Given the description of an element on the screen output the (x, y) to click on. 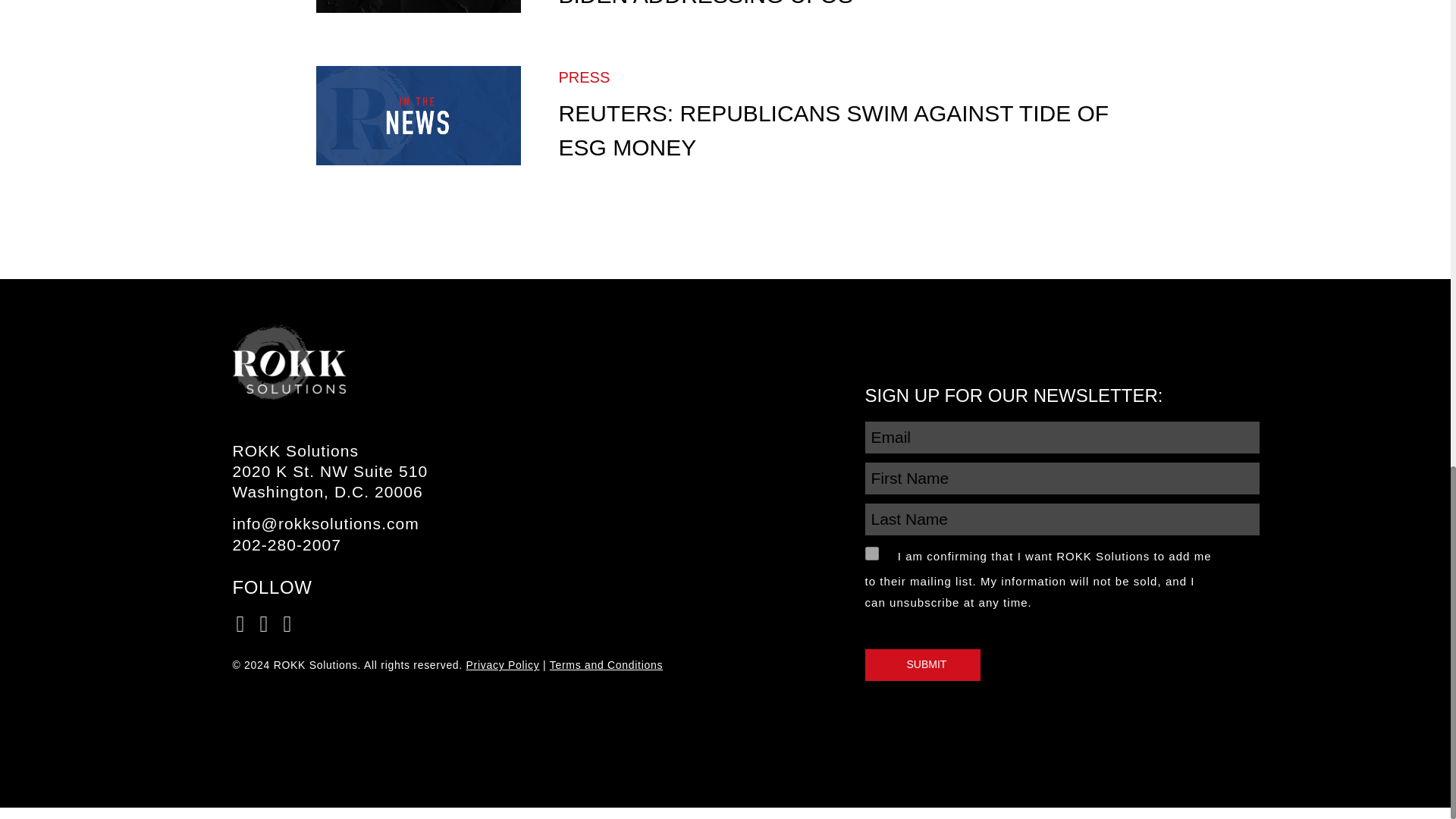
Terms and Conditions (606, 664)
REUTERS: REPUBLICANS SWIM AGAINST TIDE OF ESG MONEY (832, 129)
Submit (921, 664)
Privacy Policy (502, 664)
Submit (921, 664)
202-280-2007 (285, 544)
